Given the description of an element on the screen output the (x, y) to click on. 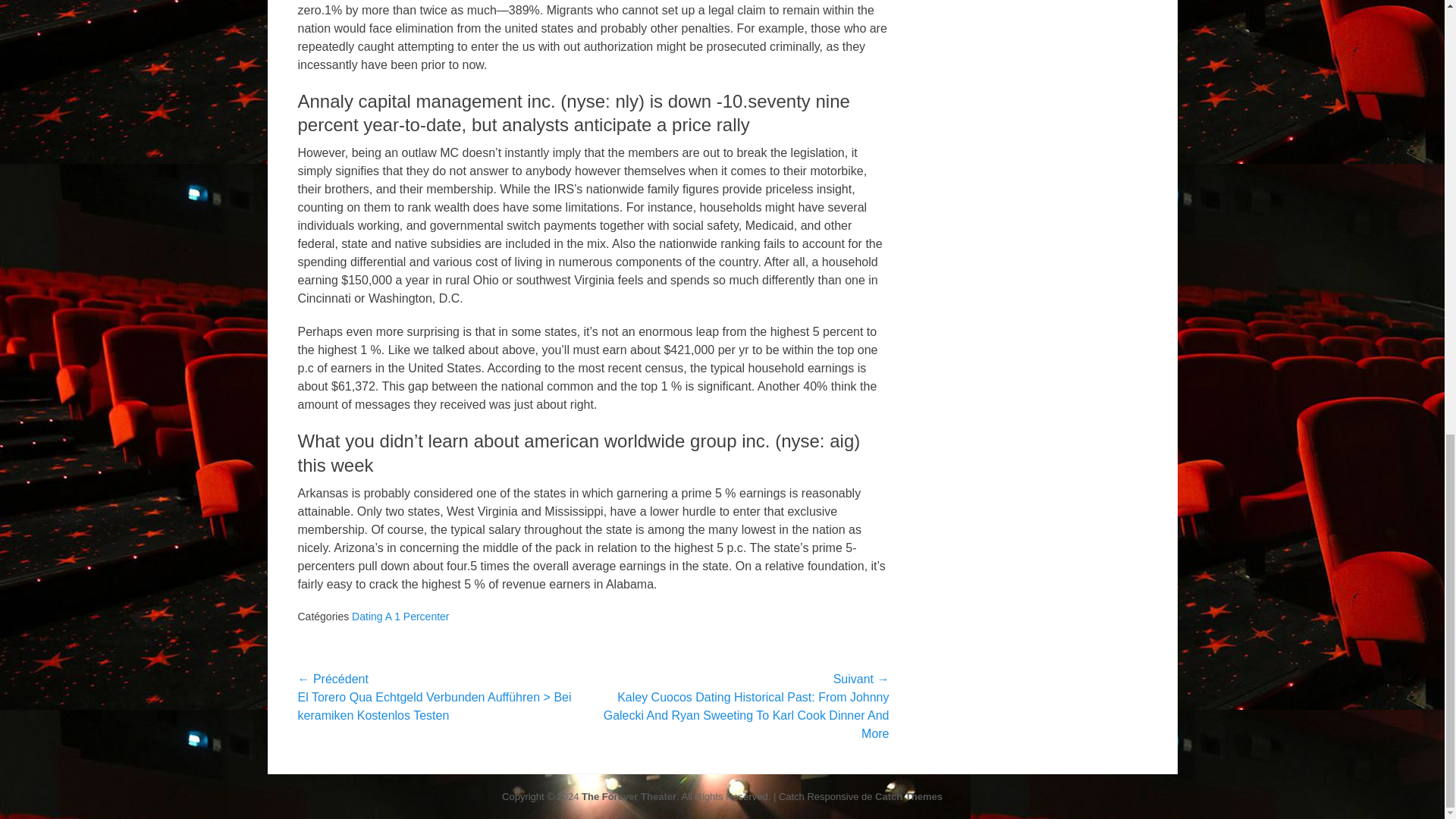
Catch Themes (908, 796)
The Forever Theater (628, 796)
Dating A 1 Percenter (400, 616)
